Given the description of an element on the screen output the (x, y) to click on. 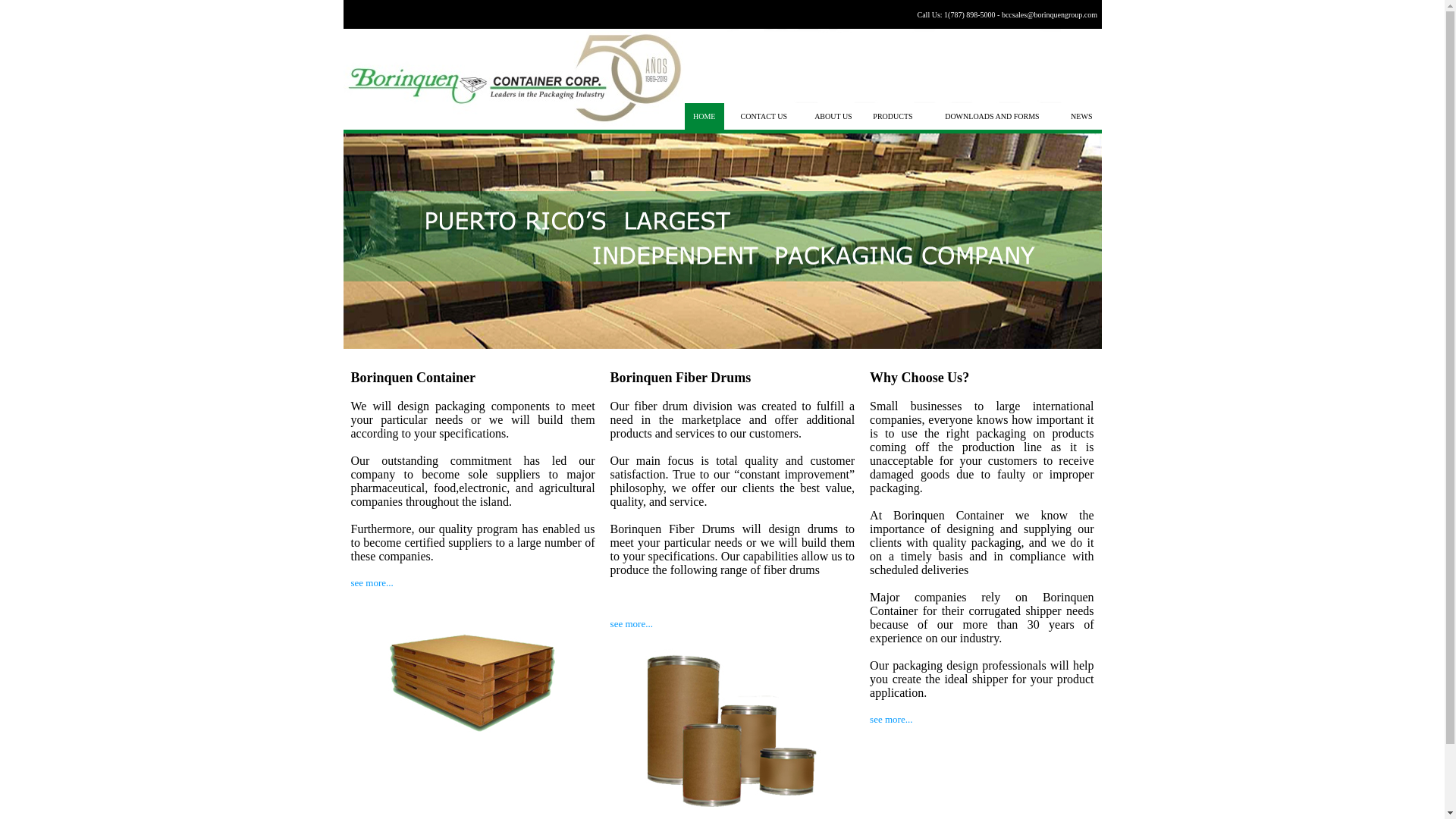
DOWNLOADS AND FORMS (991, 116)
CONTACT US (763, 116)
see more... (890, 718)
Borinquen Container (413, 377)
Borinquen Fiber Drums (680, 377)
see more... (371, 582)
HOME (703, 116)
ABOUT US (832, 116)
NEWS (1081, 116)
Why Choose Us? (919, 377)
